Given the description of an element on the screen output the (x, y) to click on. 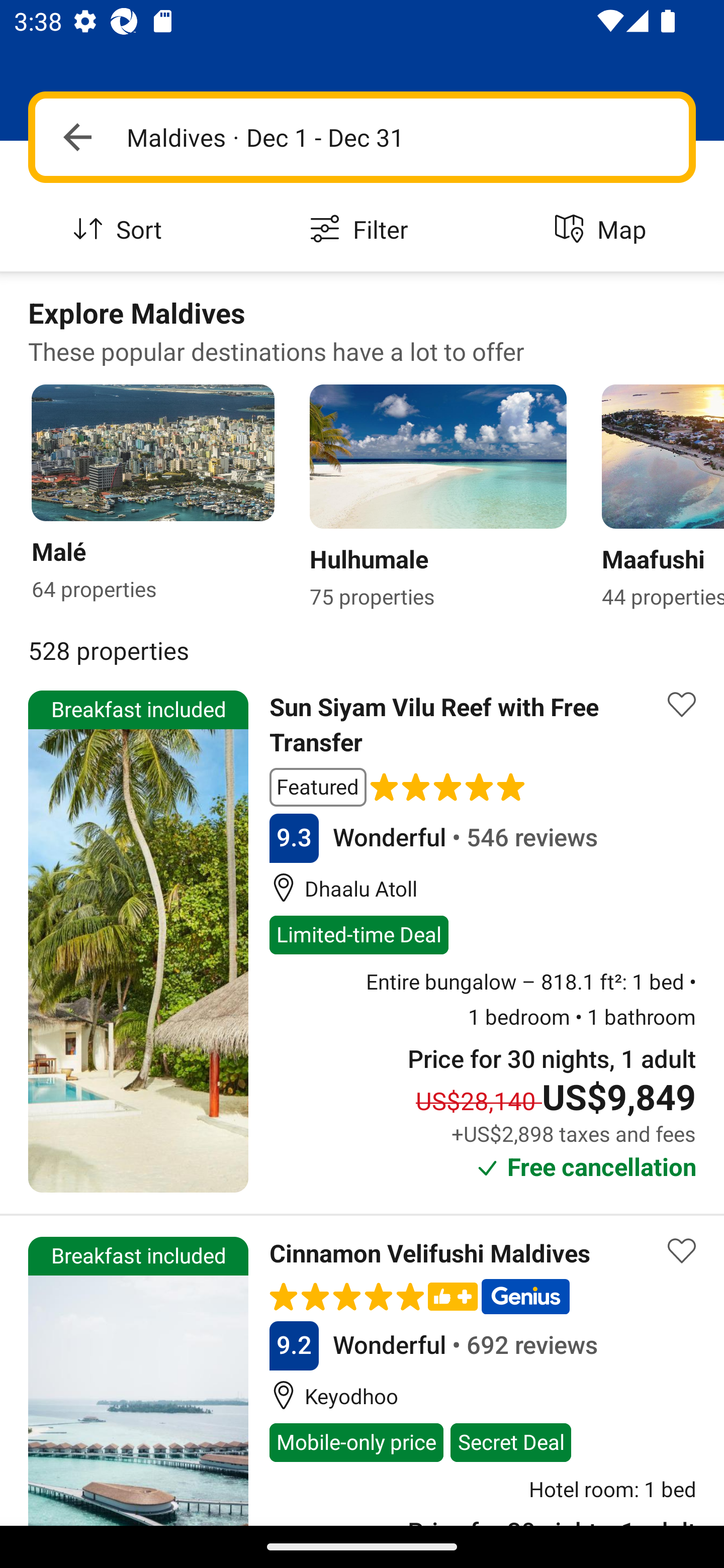
Navigate up Maldives · Dec 1 - Dec 31 (362, 136)
Navigate up (77, 136)
Sort (120, 230)
Filter (361, 230)
Map (603, 230)
Malé 64 properties (138, 498)
Hulhumale 75 properties (430, 498)
Save property to list (681, 703)
Save property to list (681, 1250)
